Given the description of an element on the screen output the (x, y) to click on. 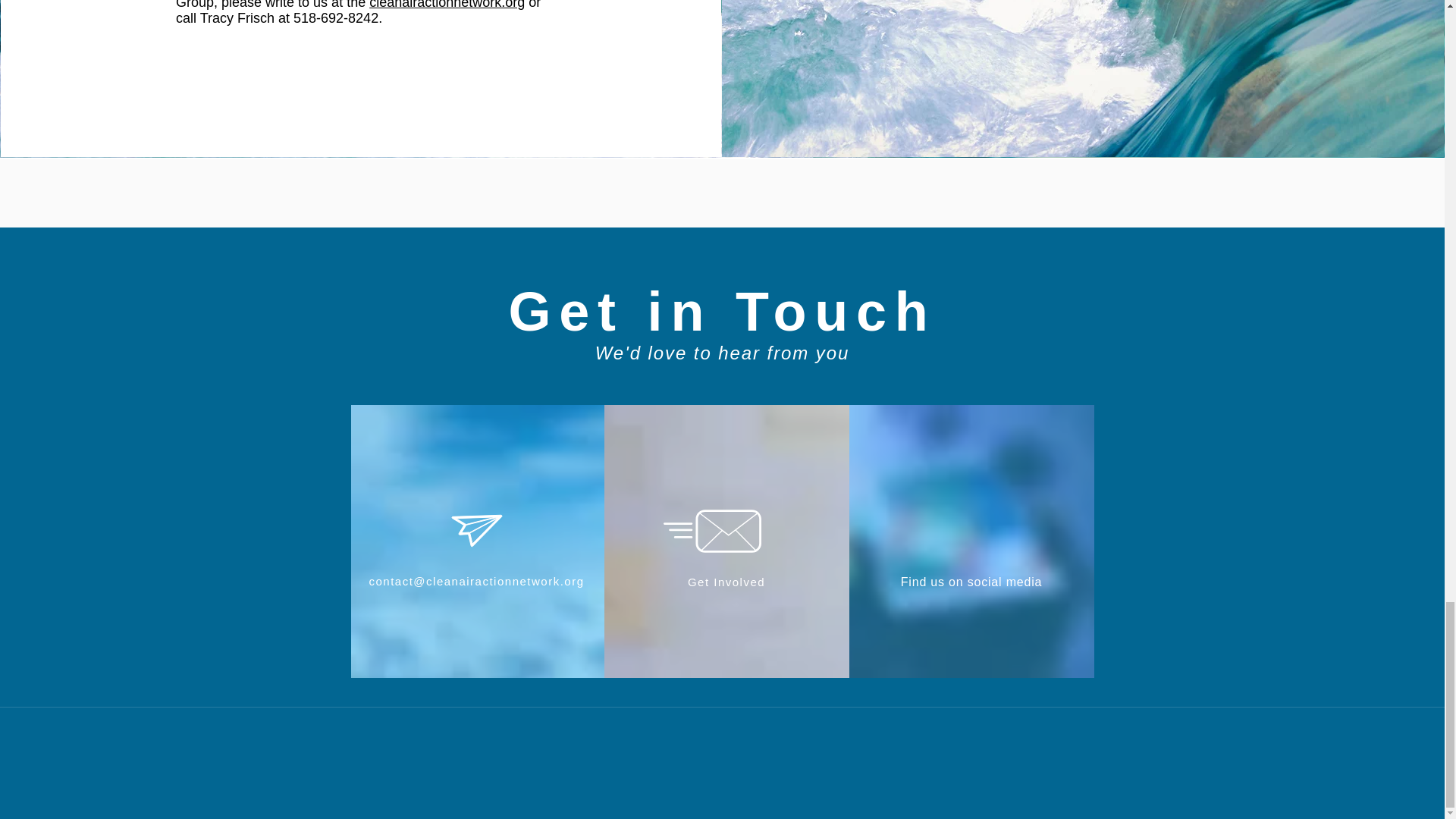
Get Involved (726, 581)
cleanairactionnetwork.org (446, 4)
